Given the description of an element on the screen output the (x, y) to click on. 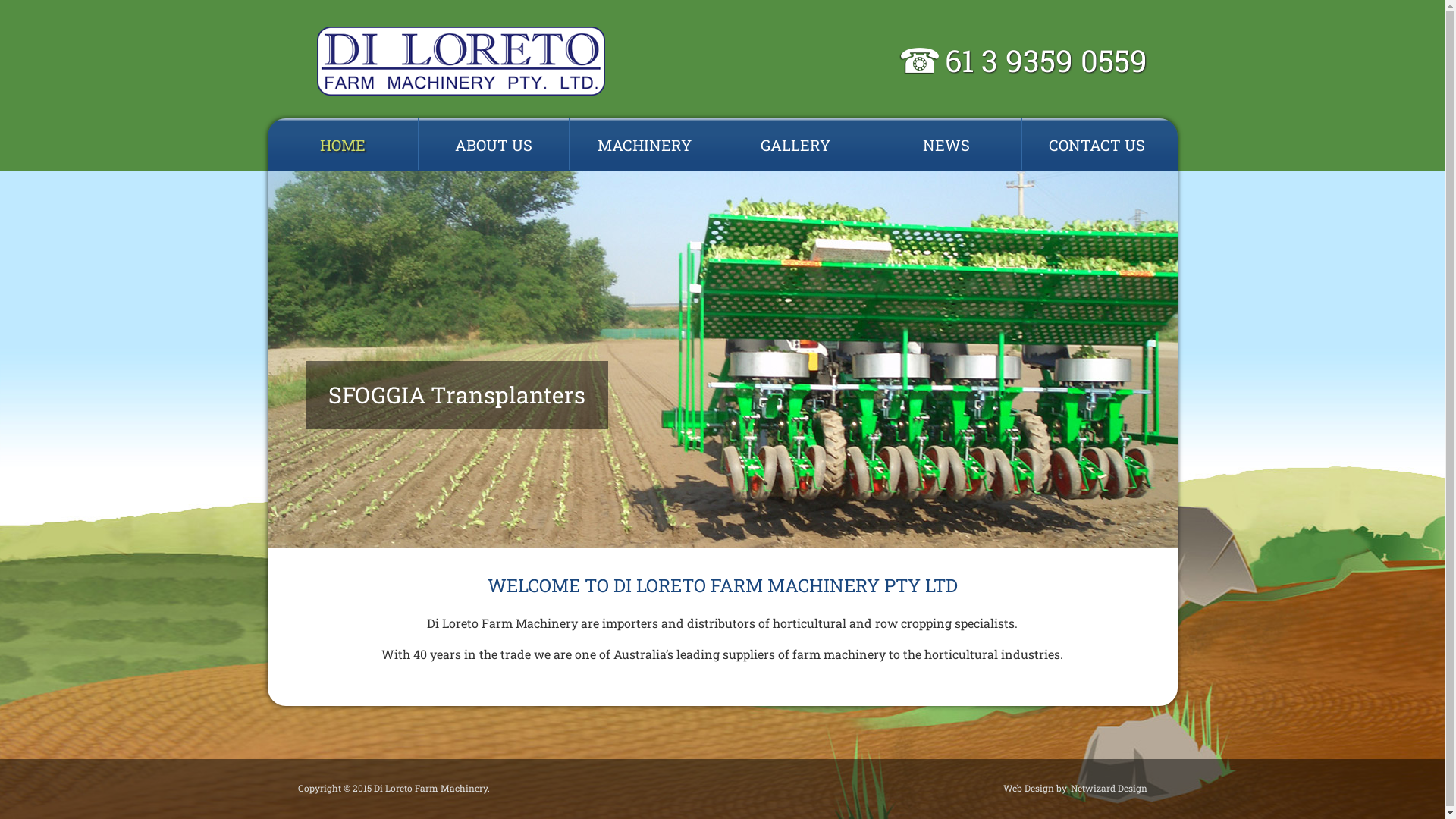
NEWS Element type: text (945, 144)
MACHINERY Element type: text (644, 144)
Netwizard Design Element type: text (1108, 787)
GALLERY Element type: text (794, 144)
HOME Element type: text (342, 144)
CONTACT US Element type: text (1096, 144)
ABOUT US Element type: text (493, 144)
